Given the description of an element on the screen output the (x, y) to click on. 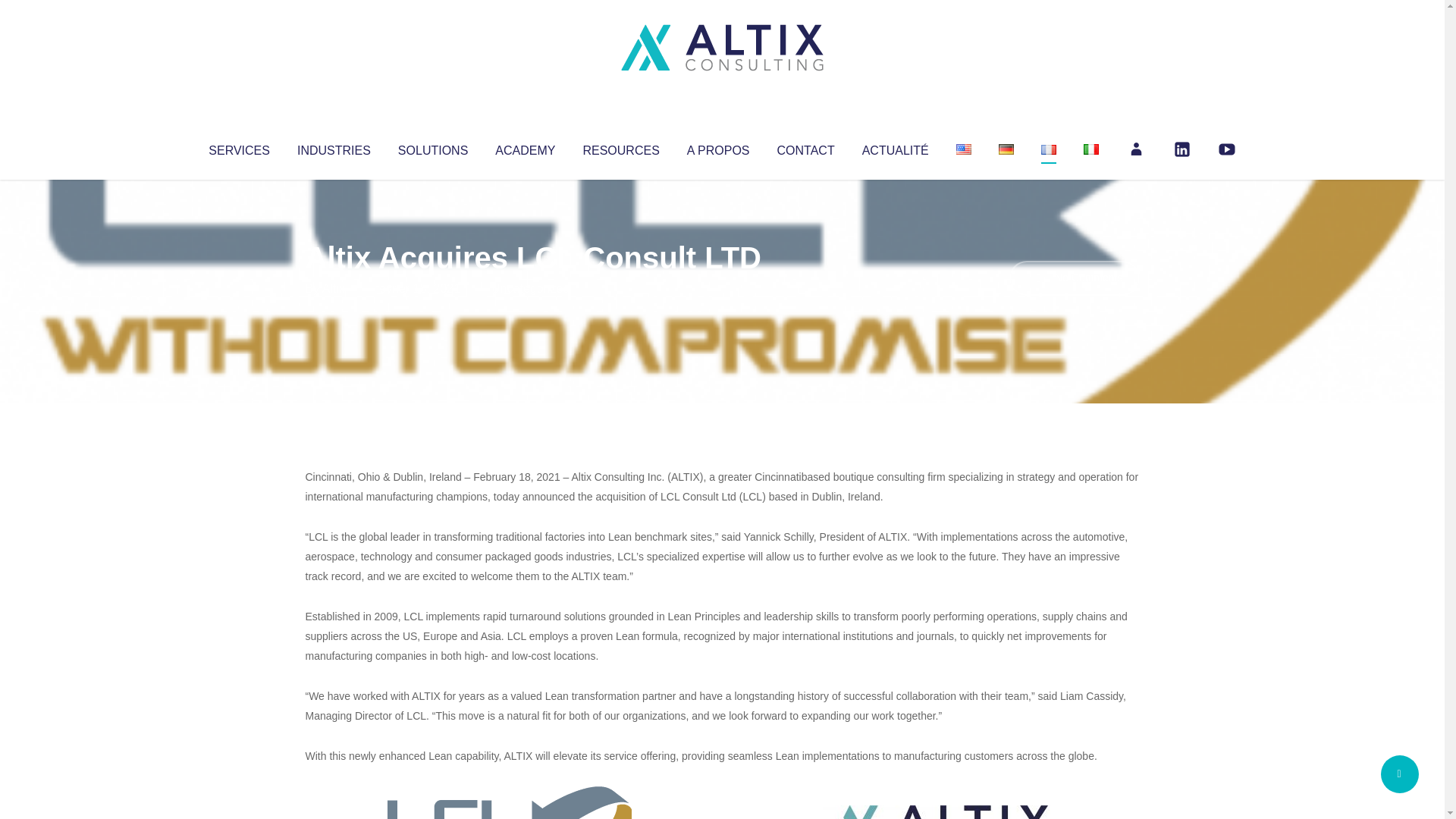
Altix (333, 287)
A PROPOS (718, 146)
Uncategorized (530, 287)
Articles par Altix (333, 287)
SERVICES (238, 146)
ACADEMY (524, 146)
No Comments (1073, 278)
RESOURCES (620, 146)
SOLUTIONS (432, 146)
INDUSTRIES (334, 146)
